Given the description of an element on the screen output the (x, y) to click on. 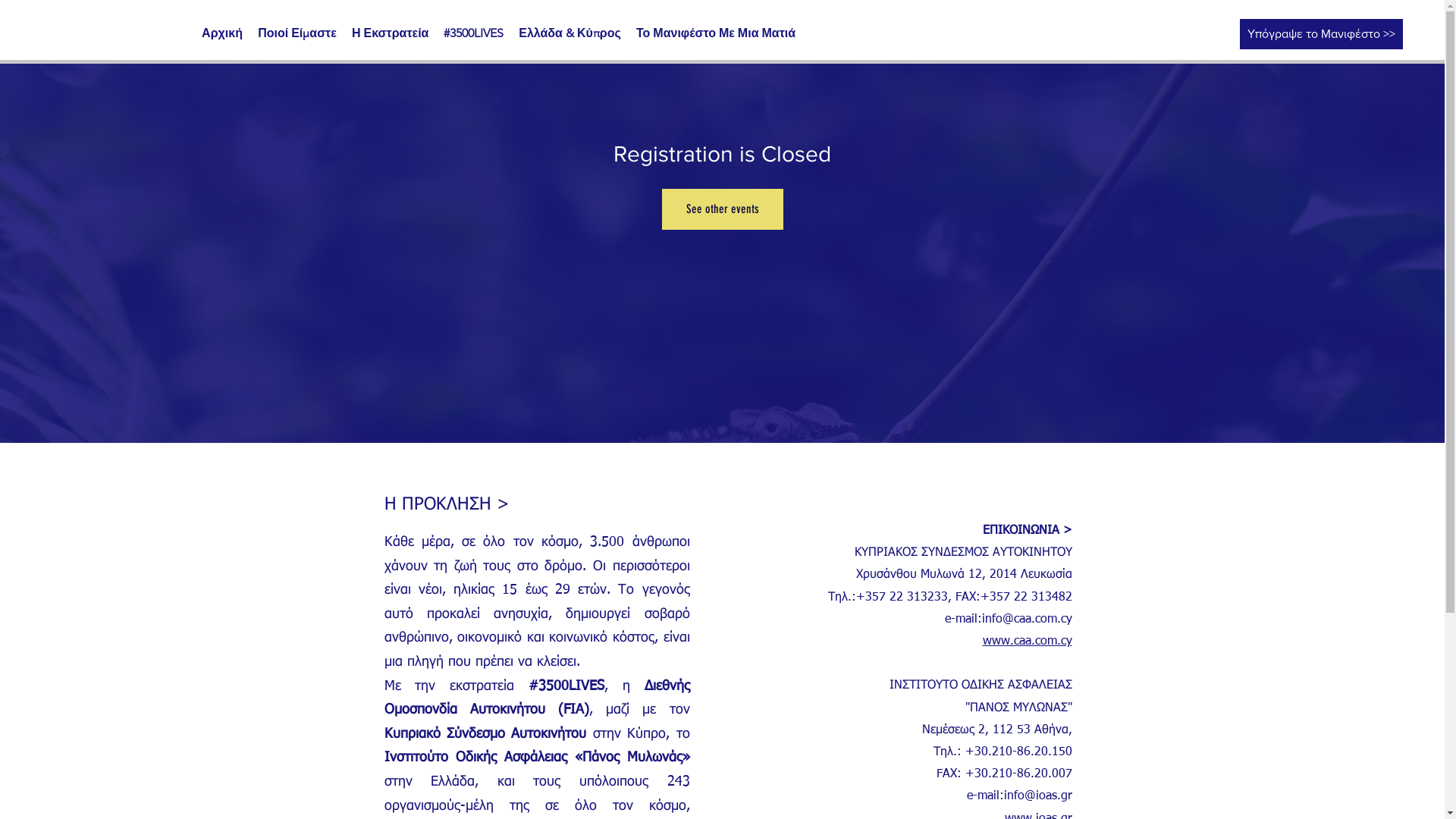
info@ioas.gr Element type: text (1038, 796)
e-mail: Element type: text (963, 619)
info@caa.com.cy Element type: text (1026, 619)
www.caa.com.cy Element type: text (1027, 639)
#3500LIVES Element type: text (473, 33)
See other events Element type: text (721, 208)
